Given the description of an element on the screen output the (x, y) to click on. 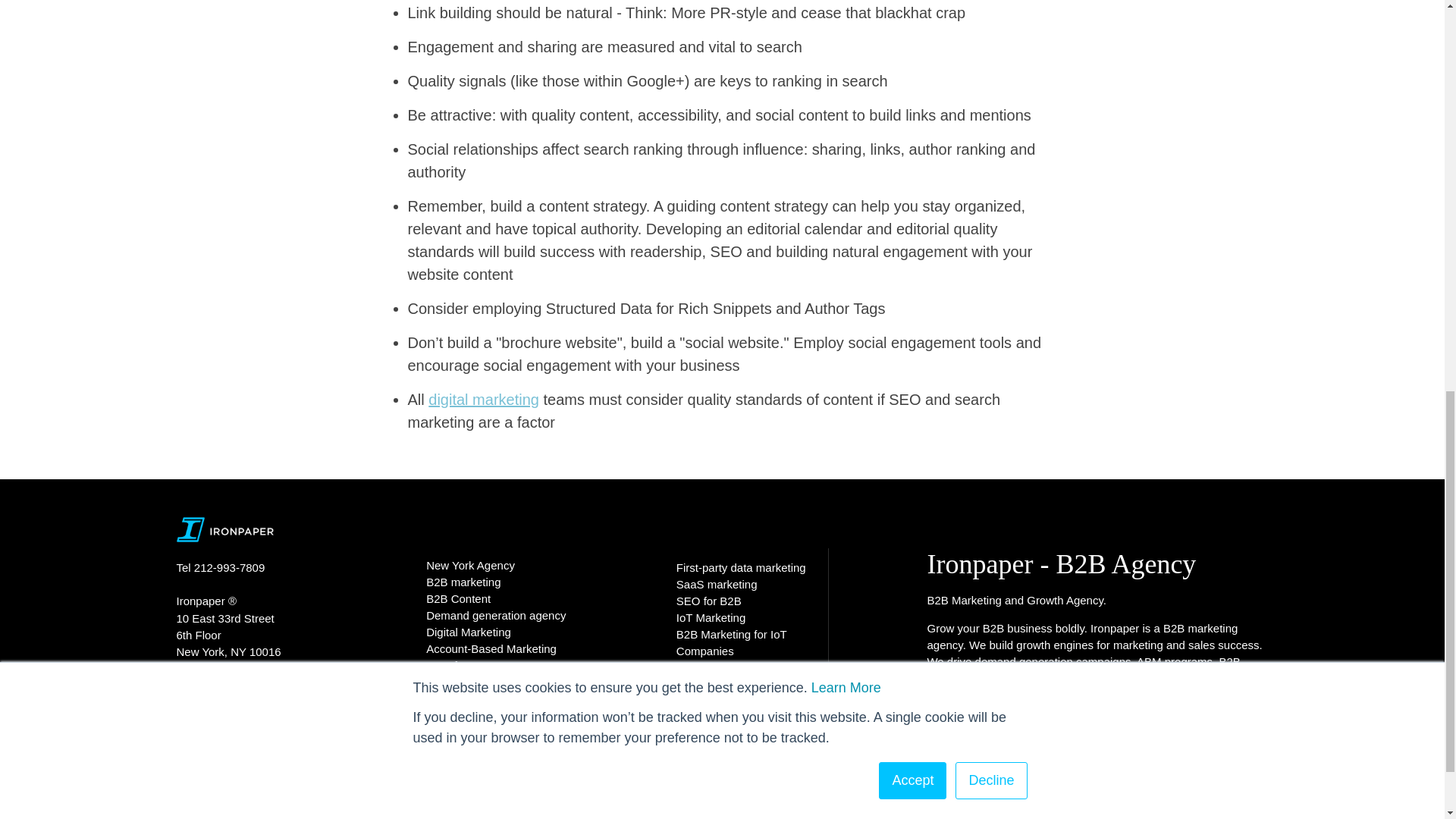
Account-based marketing (1149, 661)
Map (187, 667)
B2B marketing (463, 581)
New York Agency (470, 564)
Demand generation agency (496, 615)
B2B Content (458, 598)
digital marketing (483, 399)
212-993-7809 (230, 567)
